Given the description of an element on the screen output the (x, y) to click on. 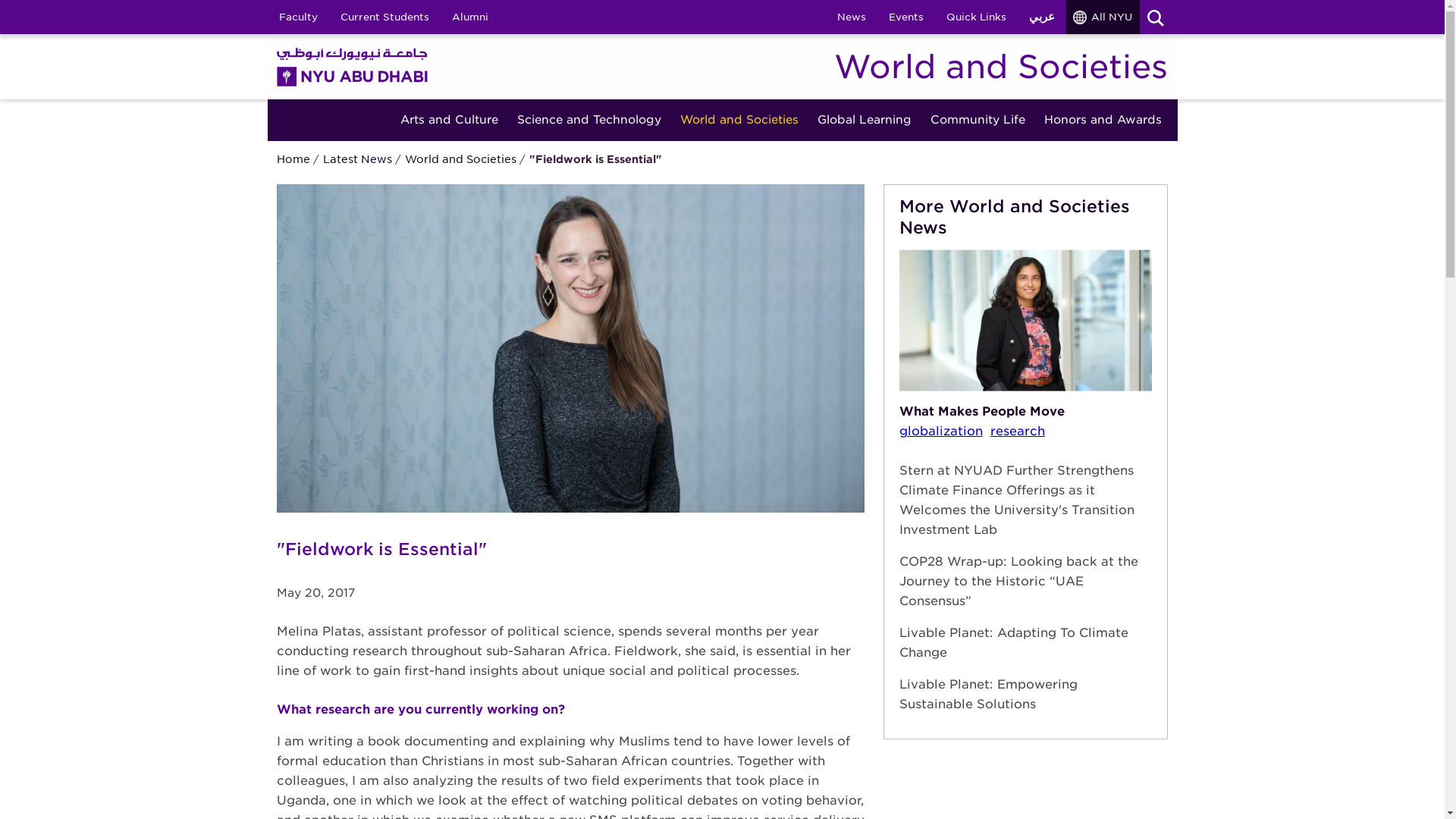
News (850, 17)
New York University Abu Dhabi Home (352, 65)
Current Students (385, 17)
Quick Links (975, 17)
Faculty (297, 17)
Events (905, 17)
All NYU (1102, 17)
Veda Binod Narasimhan (1025, 320)
Alumni (469, 17)
